Given the description of an element on the screen output the (x, y) to click on. 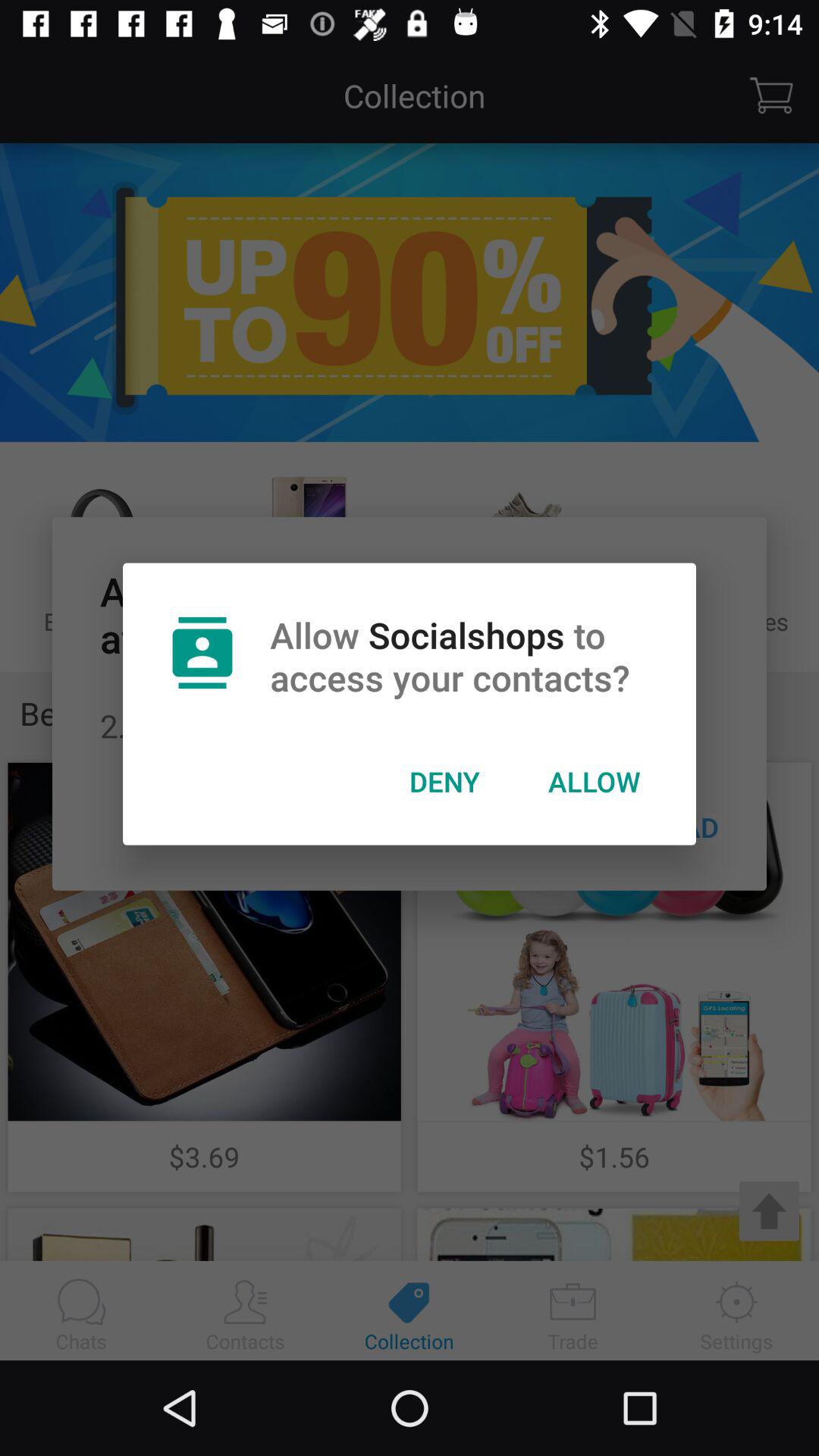
press item to the left of allow item (444, 781)
